Given the description of an element on the screen output the (x, y) to click on. 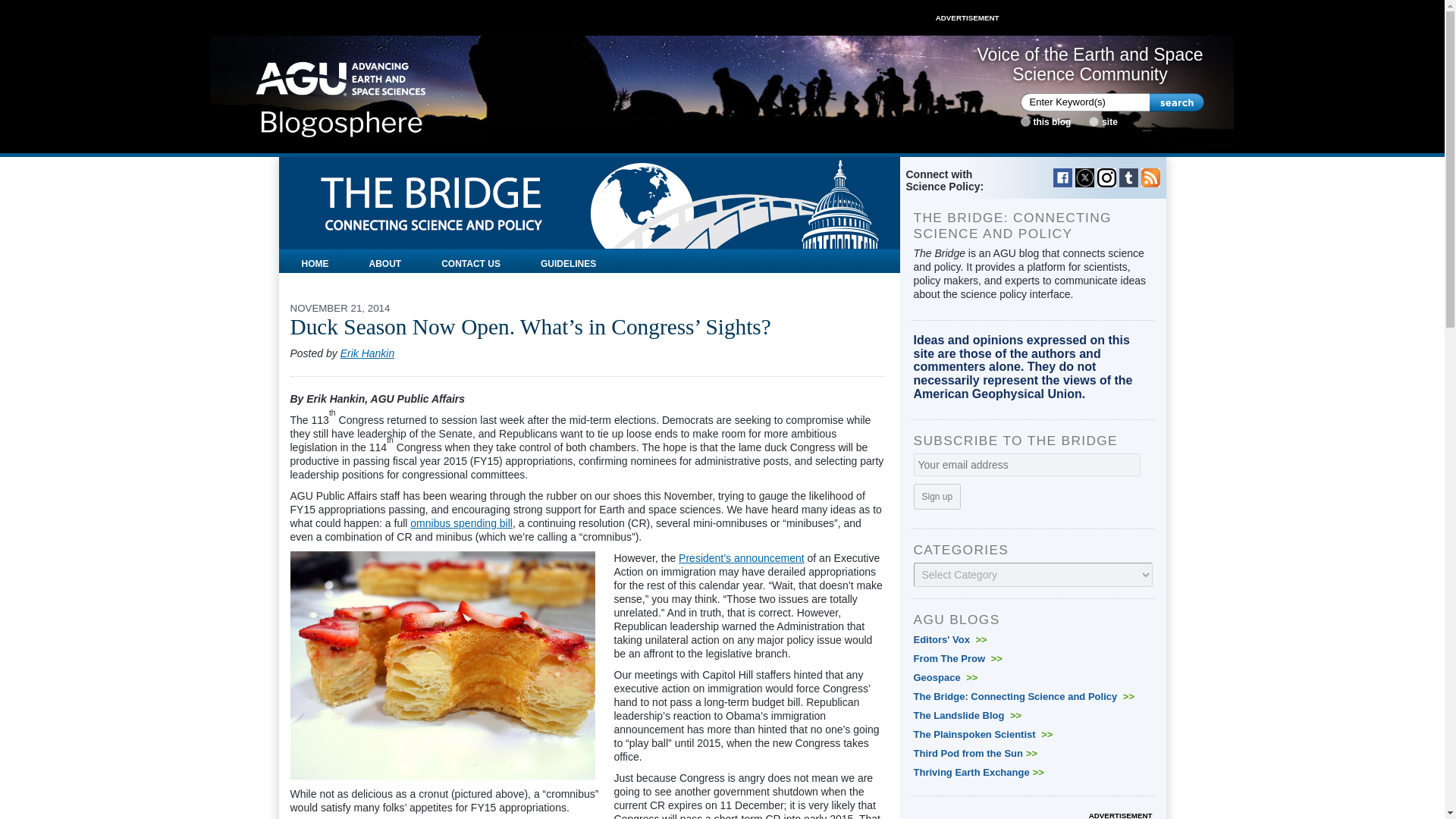
HOME (314, 260)
blog (1025, 121)
Home (341, 94)
Sign up (936, 496)
Erik Hankin (367, 353)
ABOUT (385, 260)
CONTACT US (470, 260)
omnibus spending bill (461, 522)
Sign up (936, 496)
all (1094, 121)
GUIDELINES (567, 260)
